Given the description of an element on the screen output the (x, y) to click on. 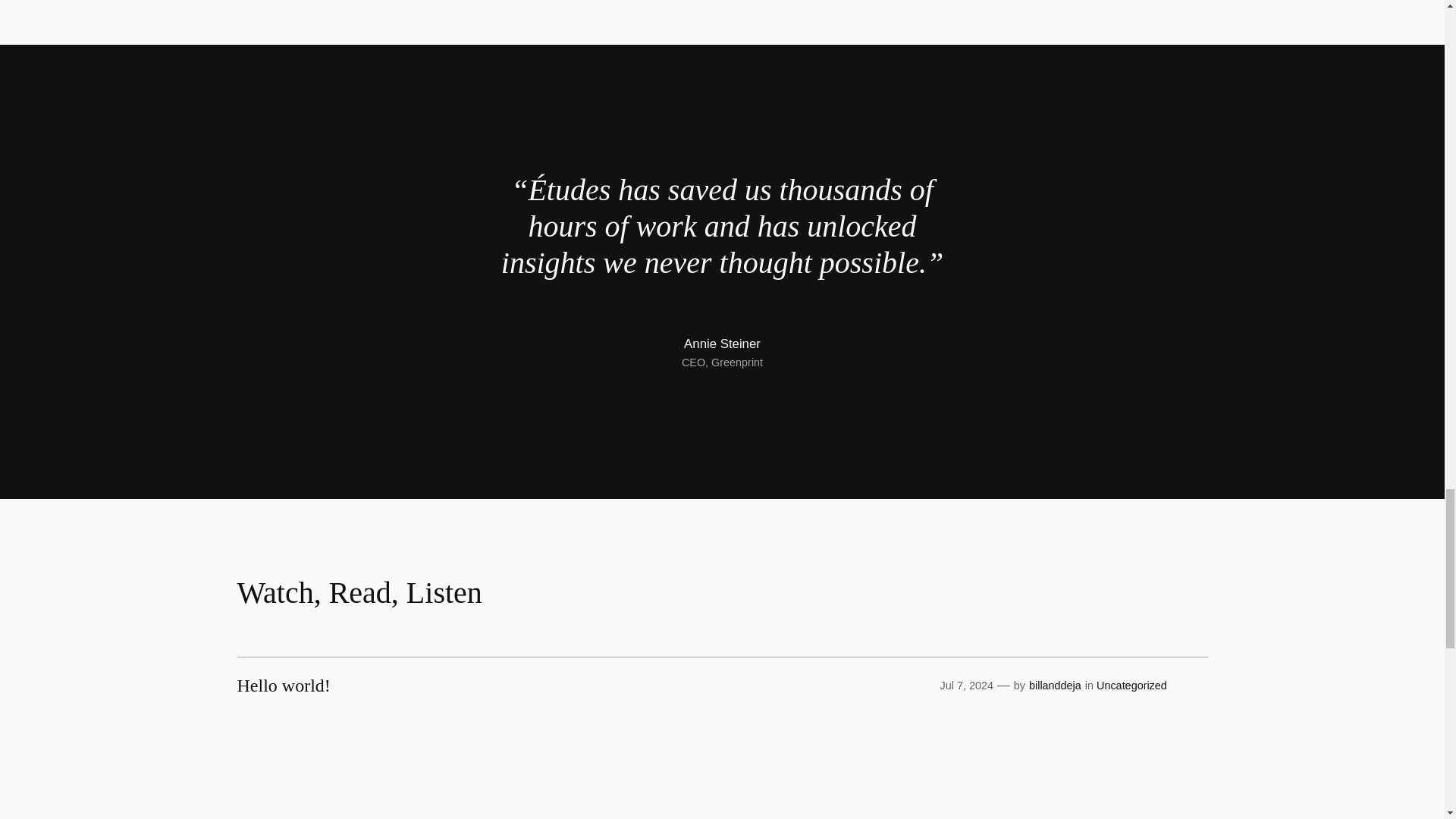
Uncategorized (1131, 685)
billanddeja (1055, 685)
Hello world! (282, 685)
Jul 7, 2024 (965, 685)
